Given the description of an element on the screen output the (x, y) to click on. 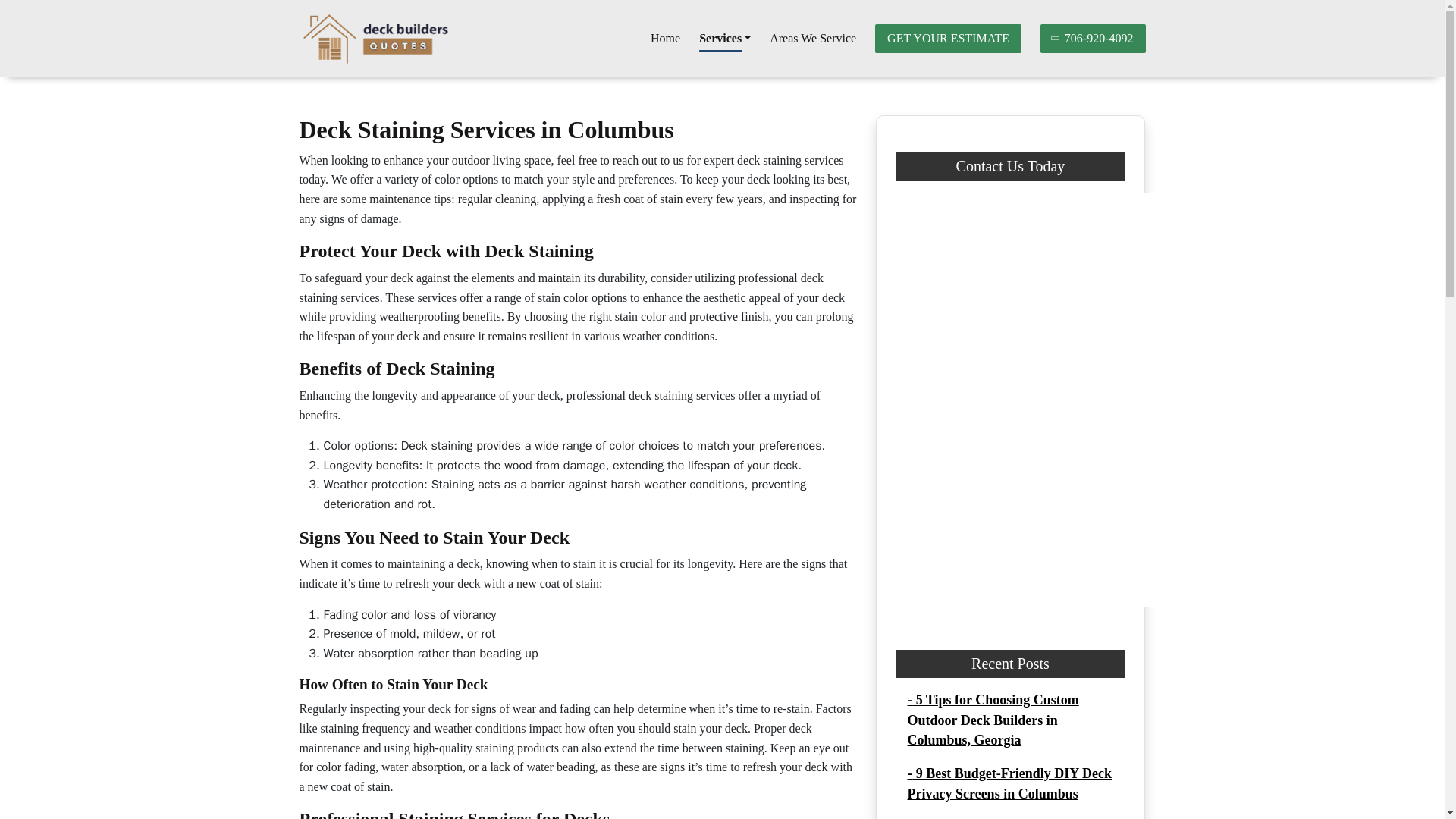
GET YOUR ESTIMATE (948, 38)
706-920-4092 (1093, 38)
Services (724, 38)
Services (724, 38)
Areas We Service (813, 38)
Home (664, 38)
Home (664, 38)
Areas We Service (813, 38)
